Given the description of an element on the screen output the (x, y) to click on. 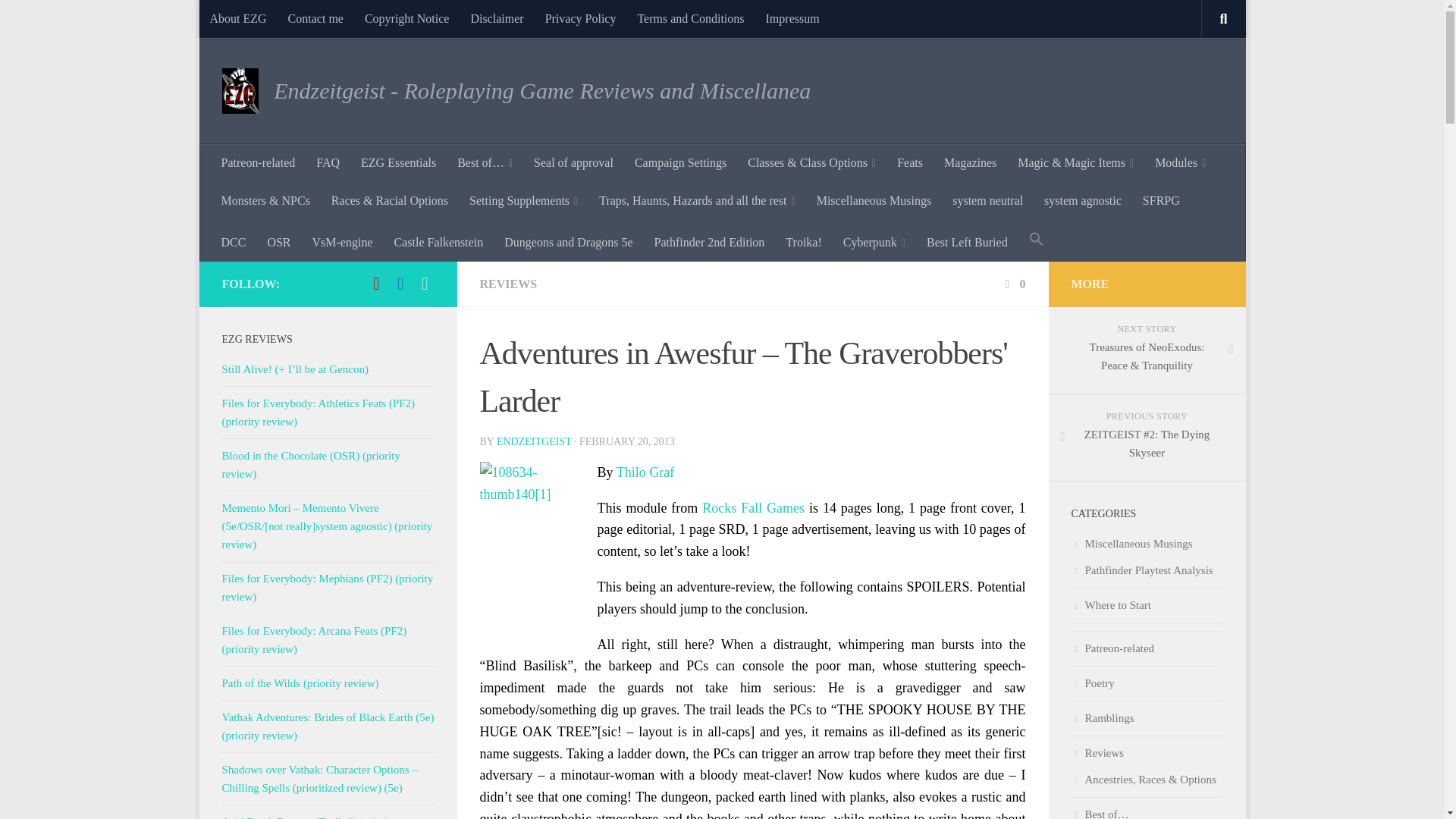
Skip to content (258, 20)
Thilo Graf (644, 472)
Posts by endzeitgeist (534, 441)
